Given the description of an element on the screen output the (x, y) to click on. 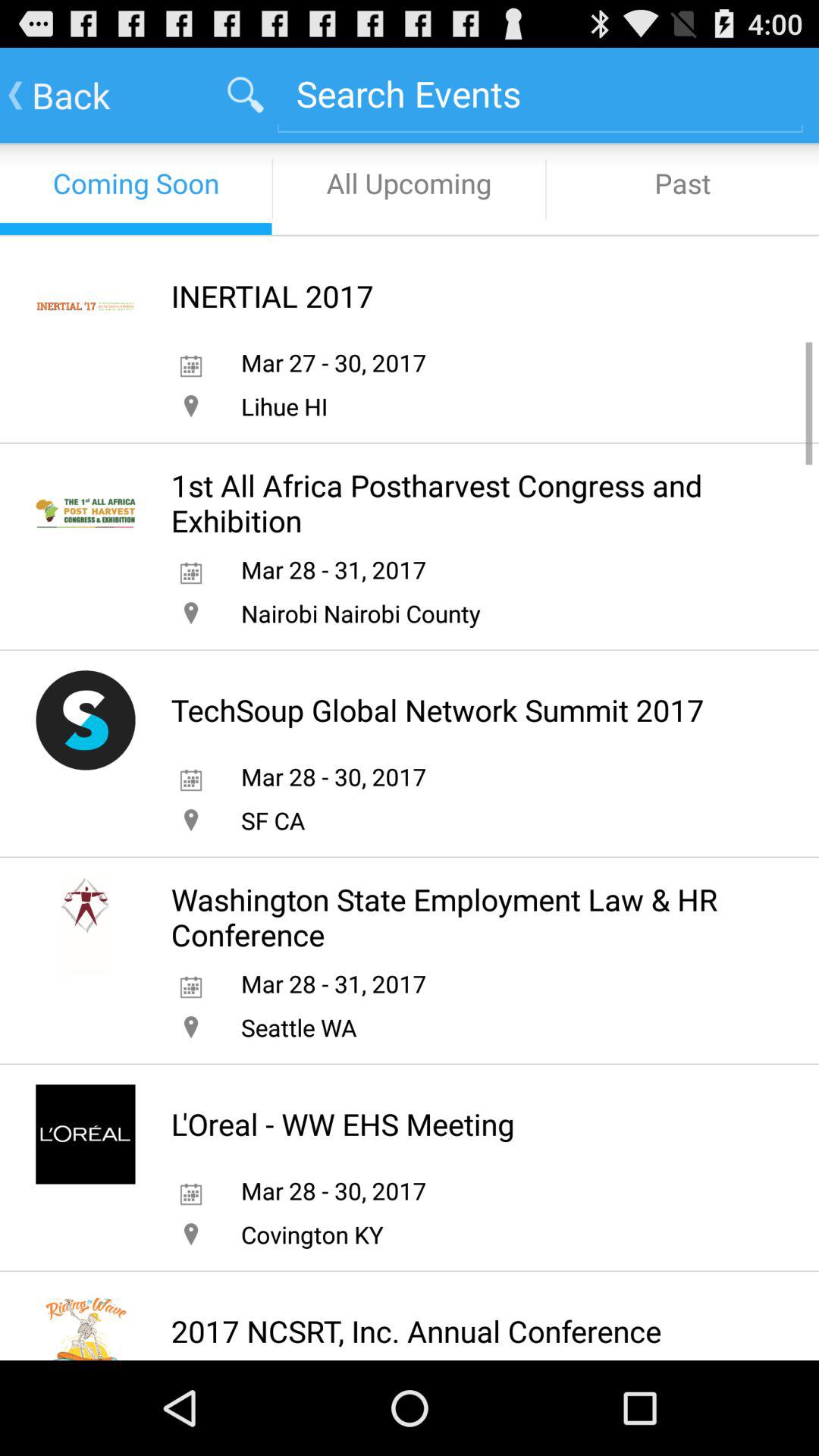
flip to inertial 2017 icon (272, 295)
